Given the description of an element on the screen output the (x, y) to click on. 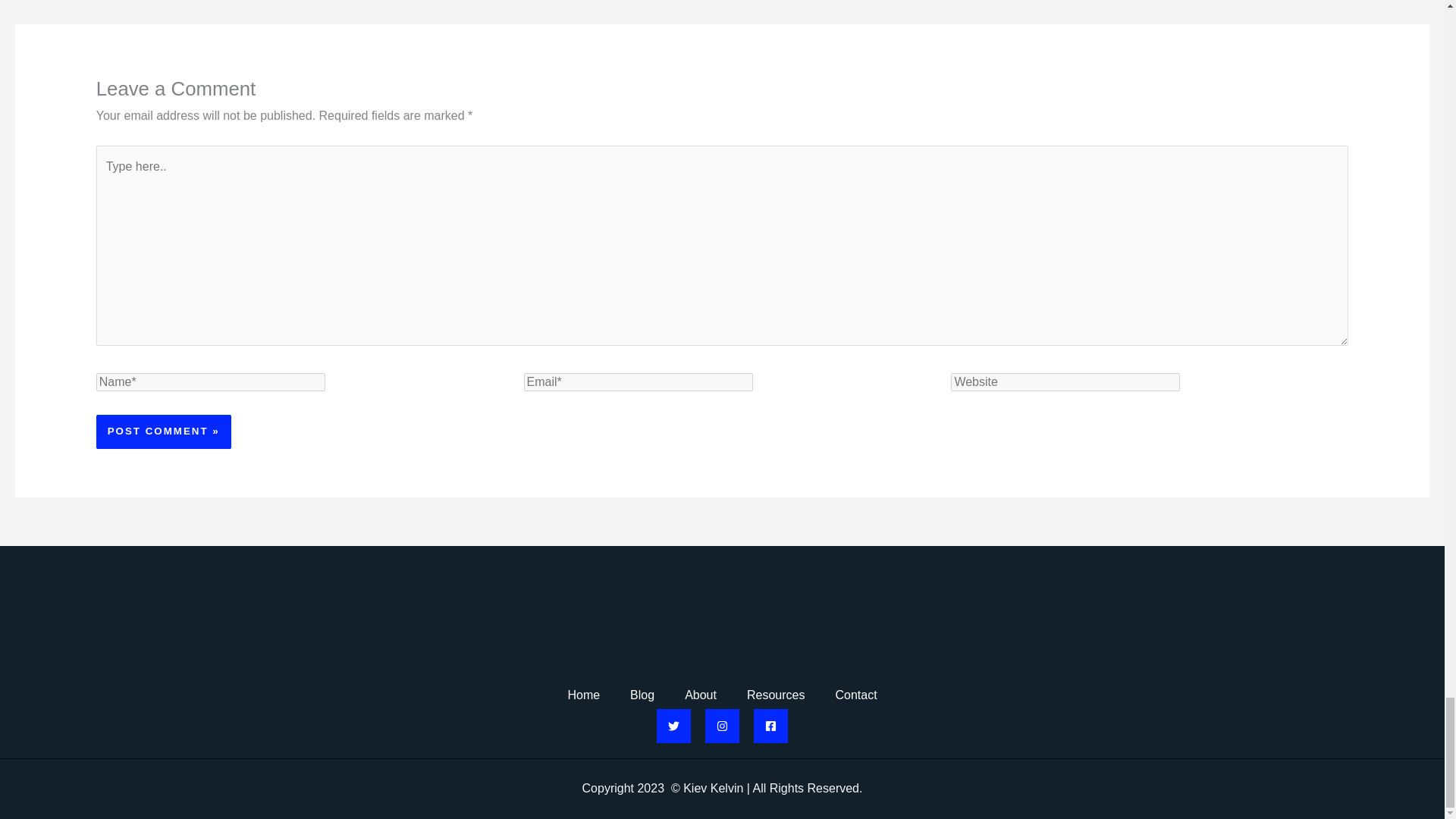
Home (582, 694)
